Given the description of an element on the screen output the (x, y) to click on. 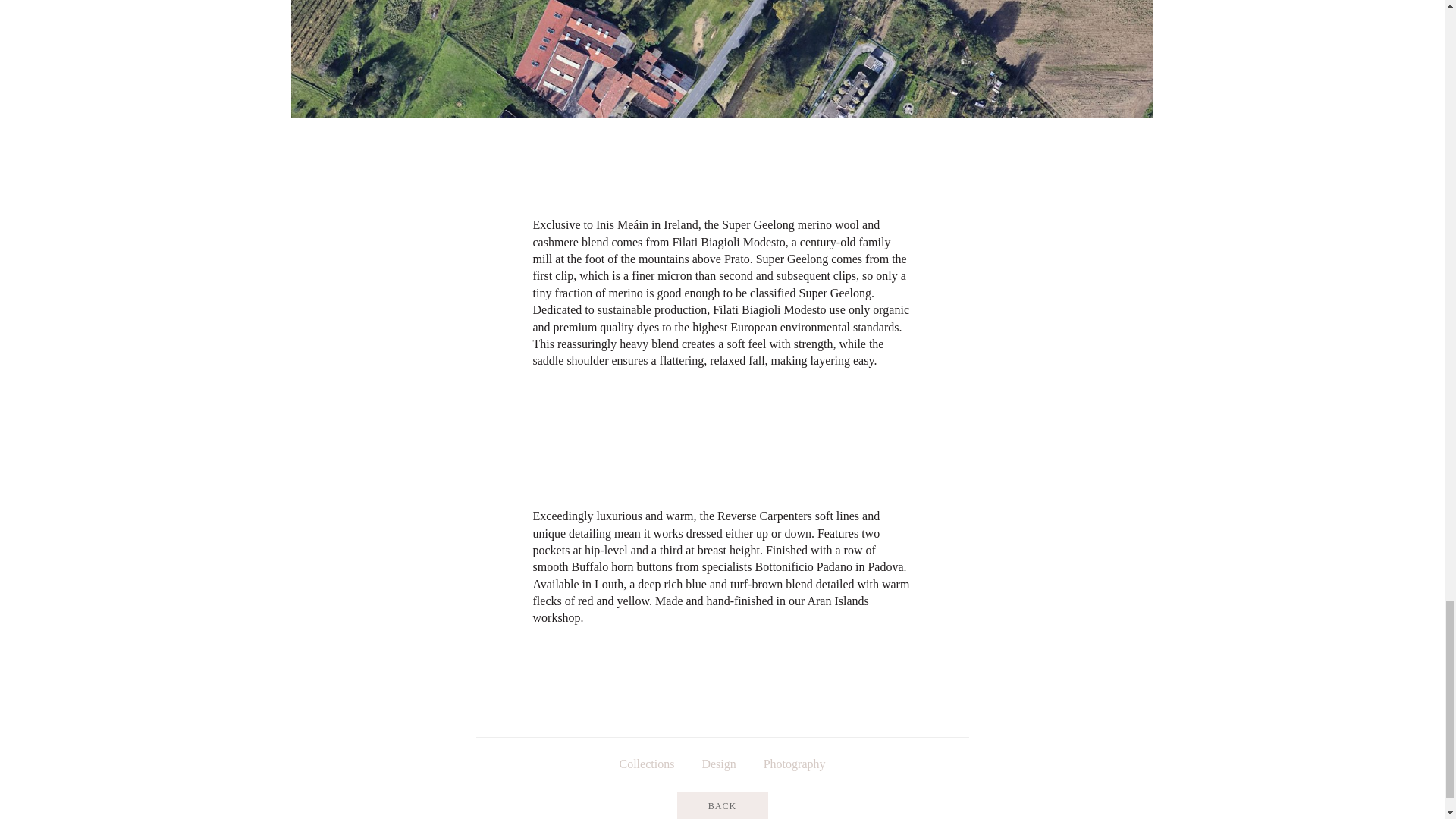
Collections (646, 763)
Photography (794, 763)
Design (718, 763)
BACK (722, 805)
